Given the description of an element on the screen output the (x, y) to click on. 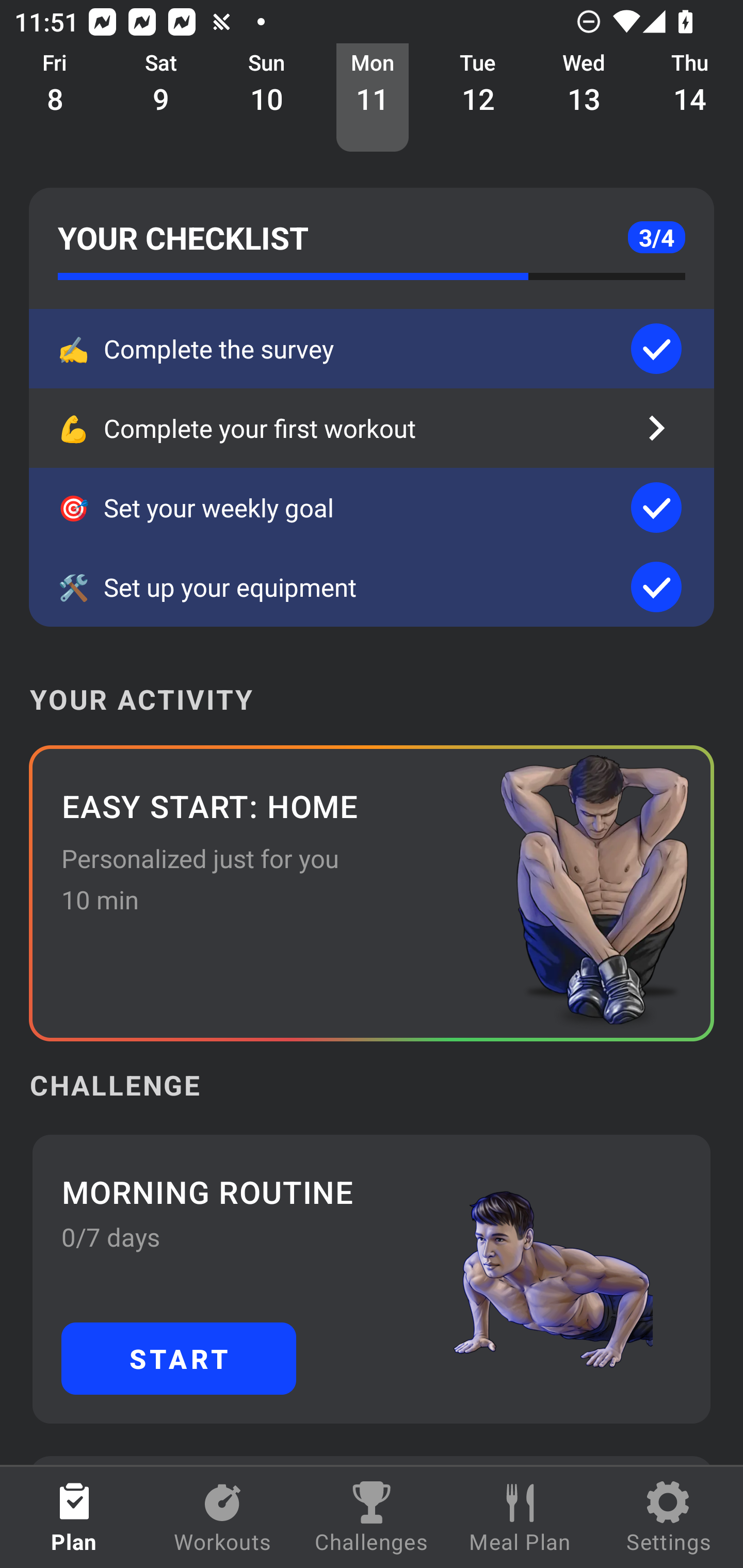
Fri 8 (55, 97)
Sat 9 (160, 97)
Sun 10 (266, 97)
Mon 11 (372, 97)
Tue 12 (478, 97)
Wed 13 (584, 97)
Thu 14 (690, 97)
💪 Complete your first workout (371, 427)
EASY START: HOME Personalized just for you 10 min (371, 892)
MORNING ROUTINE 0/7 days START (371, 1278)
START (178, 1357)
 Workouts  (222, 1517)
 Challenges  (371, 1517)
 Meal Plan  (519, 1517)
 Settings  (668, 1517)
